Given the description of an element on the screen output the (x, y) to click on. 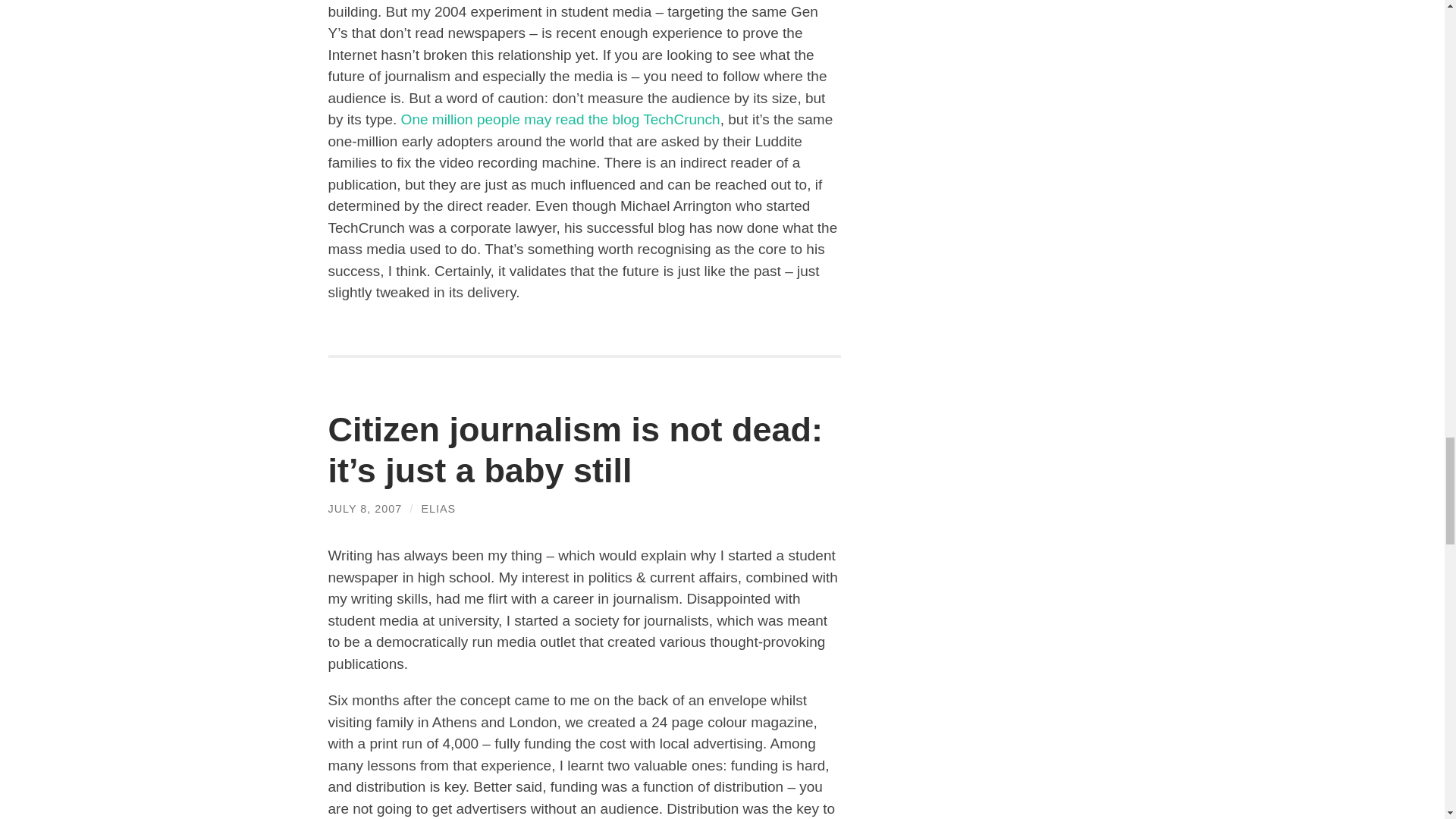
Posts by elias (437, 508)
One million people may read the blog TechCrunch (560, 119)
ELIAS (437, 508)
JULY 8, 2007 (364, 508)
